Given the description of an element on the screen output the (x, y) to click on. 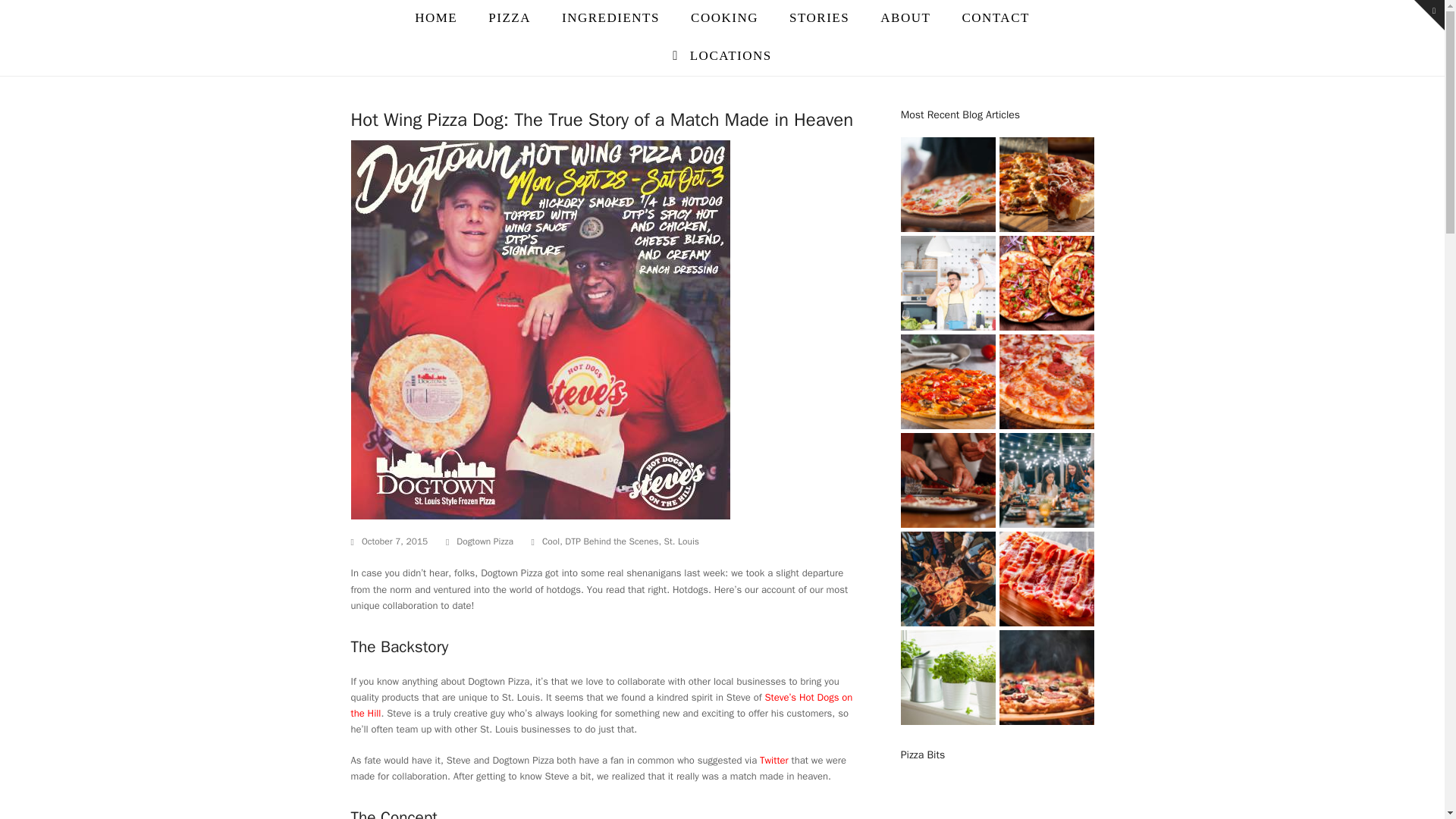
PIZZA (509, 18)
COOKING (724, 18)
St. Louis (680, 541)
DTP Behind the Scenes (611, 541)
Cool (550, 541)
LOCATIONS (722, 56)
Posts by Dogtown Pizza (485, 541)
Locations (722, 56)
HOME (436, 18)
ABOUT (905, 18)
STORIES (818, 18)
Dogtown Pizza (485, 541)
Twitter (774, 759)
CONTACT (995, 18)
INGREDIENTS (609, 18)
